Given the description of an element on the screen output the (x, y) to click on. 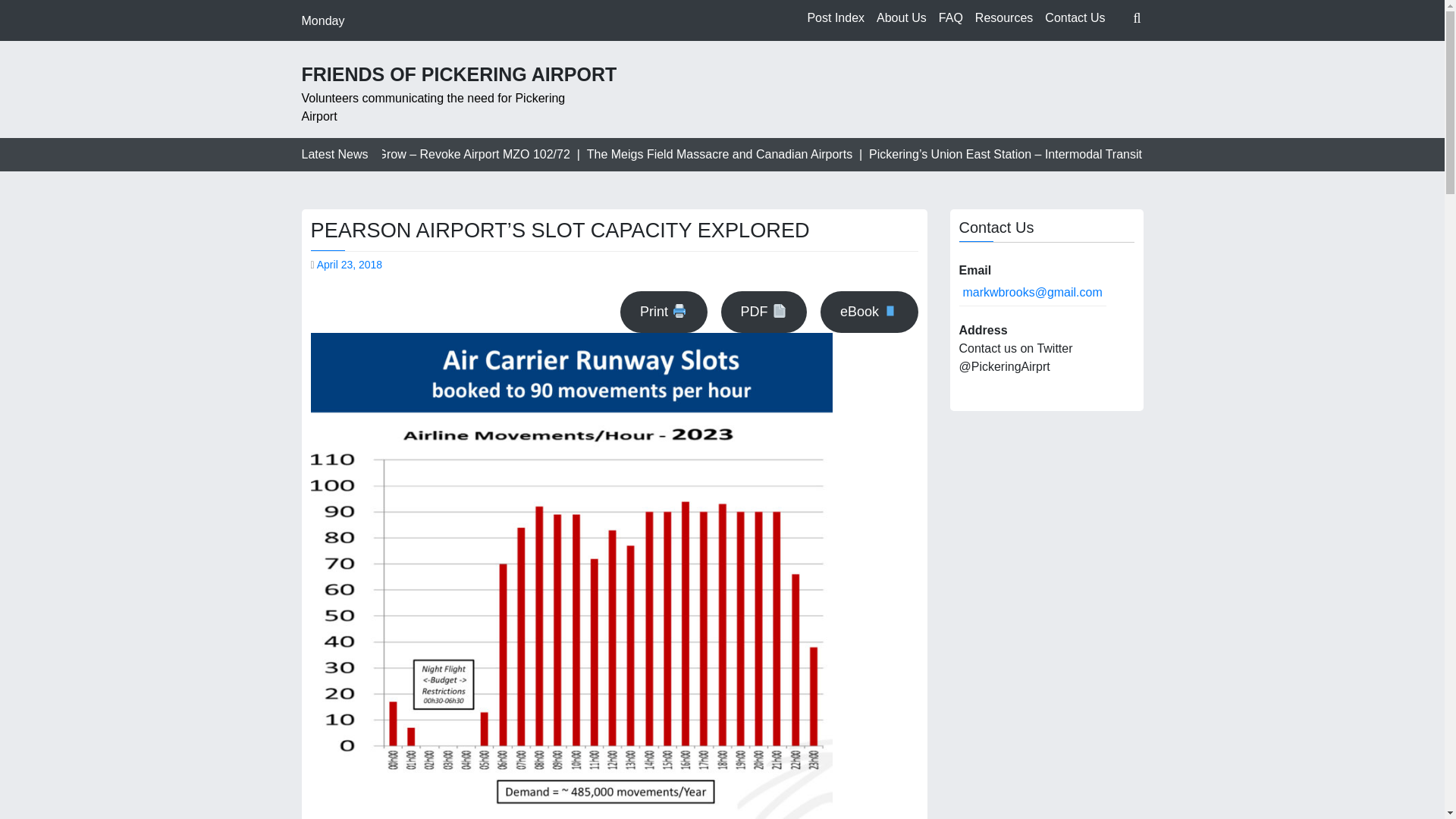
Contact Us (1074, 18)
FAQ (951, 18)
April 23, 2018 (349, 264)
Post Index (835, 18)
eBook (869, 311)
About Us (901, 18)
PDF (763, 311)
Print (663, 311)
Search (1105, 54)
FRIENDS OF PICKERING AIRPORT (459, 73)
Resources (1004, 18)
